Given the description of an element on the screen output the (x, y) to click on. 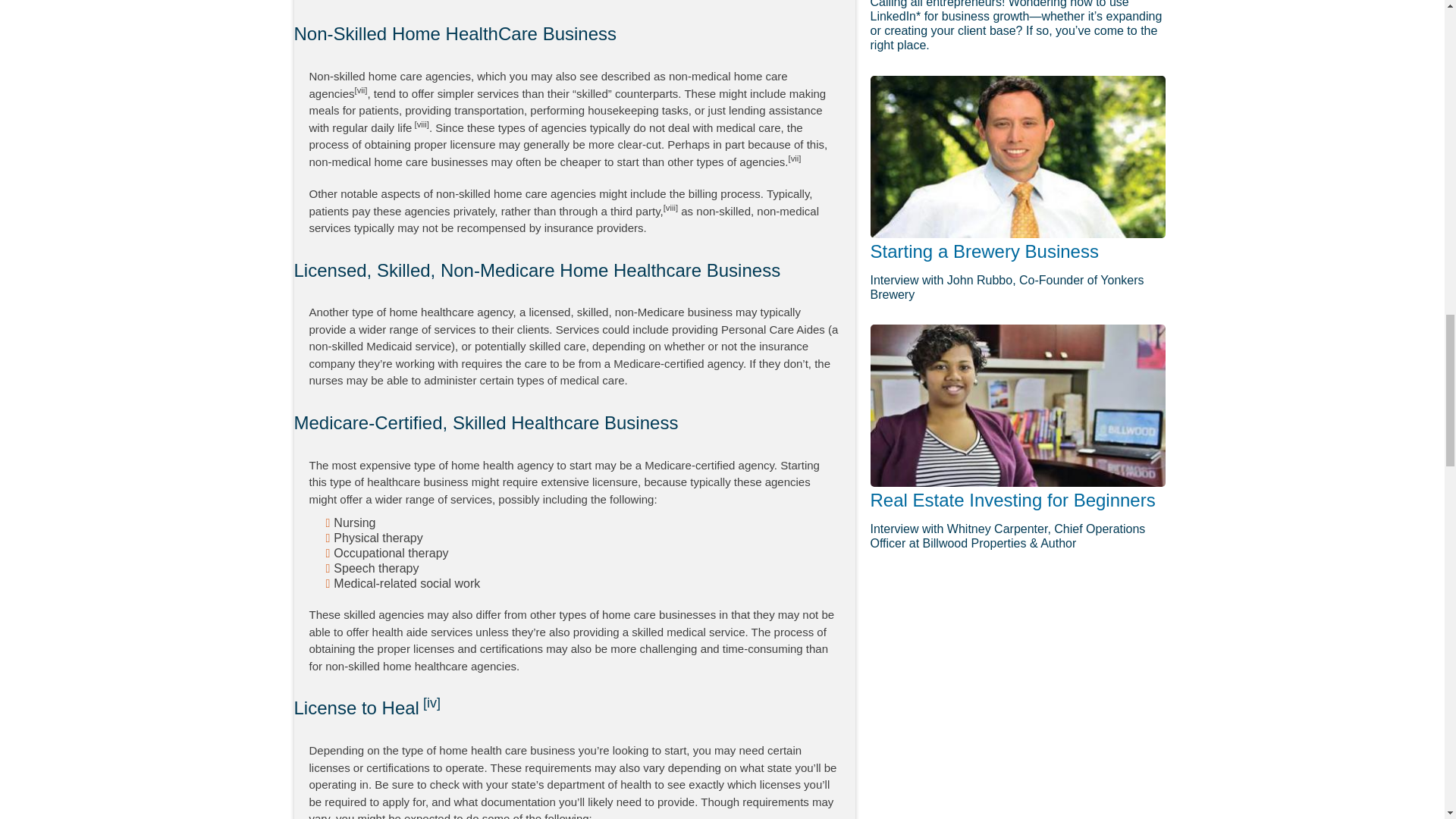
Real Estate Investing for Beginners (1013, 499)
John Rubbo of Yonkers Brewery on Starting a Brewery Business (1018, 157)
Starting a Brewery Business (984, 250)
Real Estate Investing for Beginners (1018, 405)
